Given the description of an element on the screen output the (x, y) to click on. 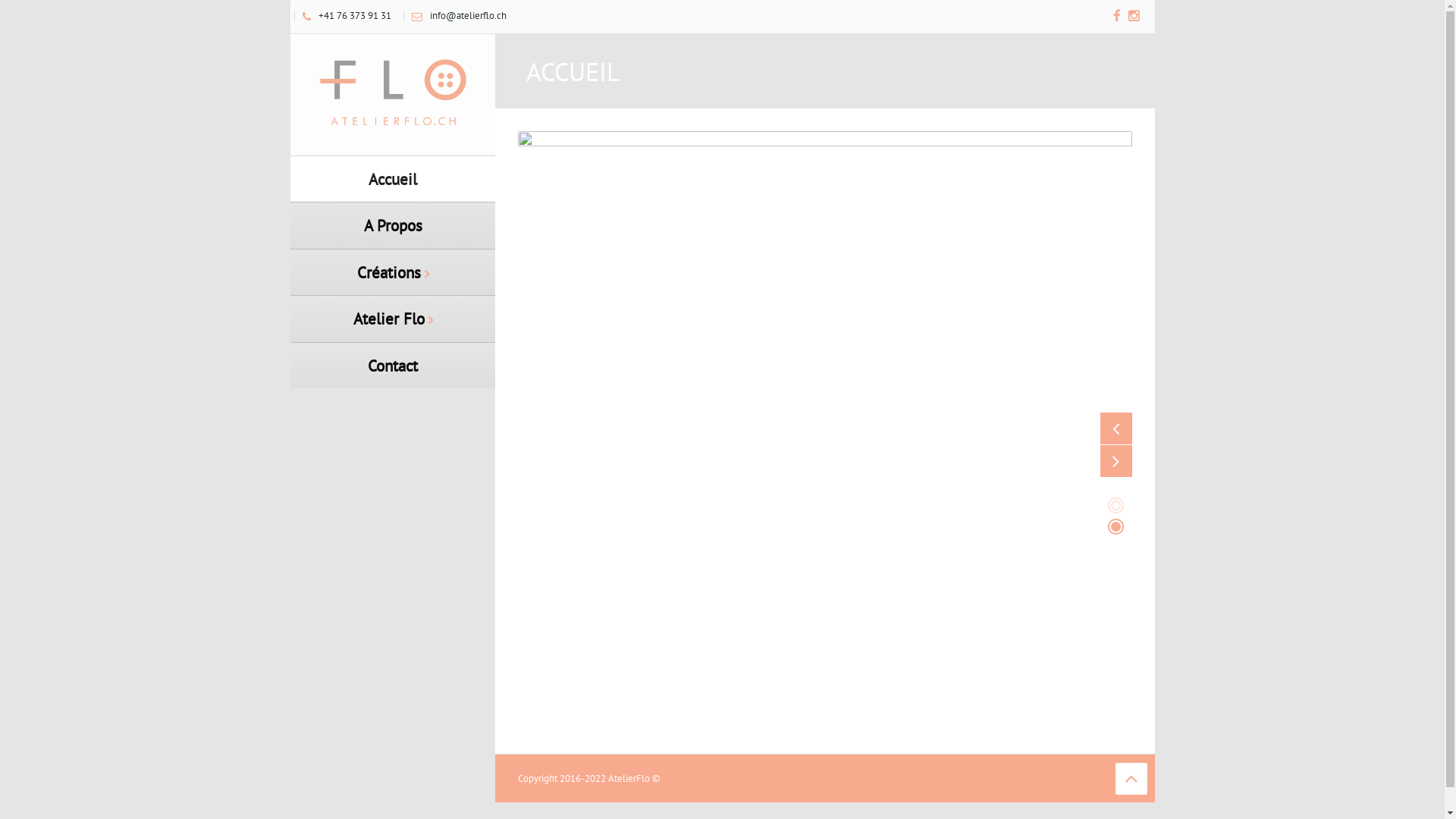
2 Element type: text (1115, 526)
Previous Element type: text (1115, 428)
info@atelierflo.ch Element type: text (454, 15)
A Propos Element type: text (391, 224)
Next Element type: text (1115, 460)
Contact Element type: text (391, 365)
Atelier Flo Element type: hover (391, 93)
Facebook Element type: hover (1116, 16)
Accueil Element type: text (391, 178)
Instagram Element type: hover (1133, 16)
Atelier Flo Element type: text (391, 317)
1 Element type: text (1115, 505)
